Given the description of an element on the screen output the (x, y) to click on. 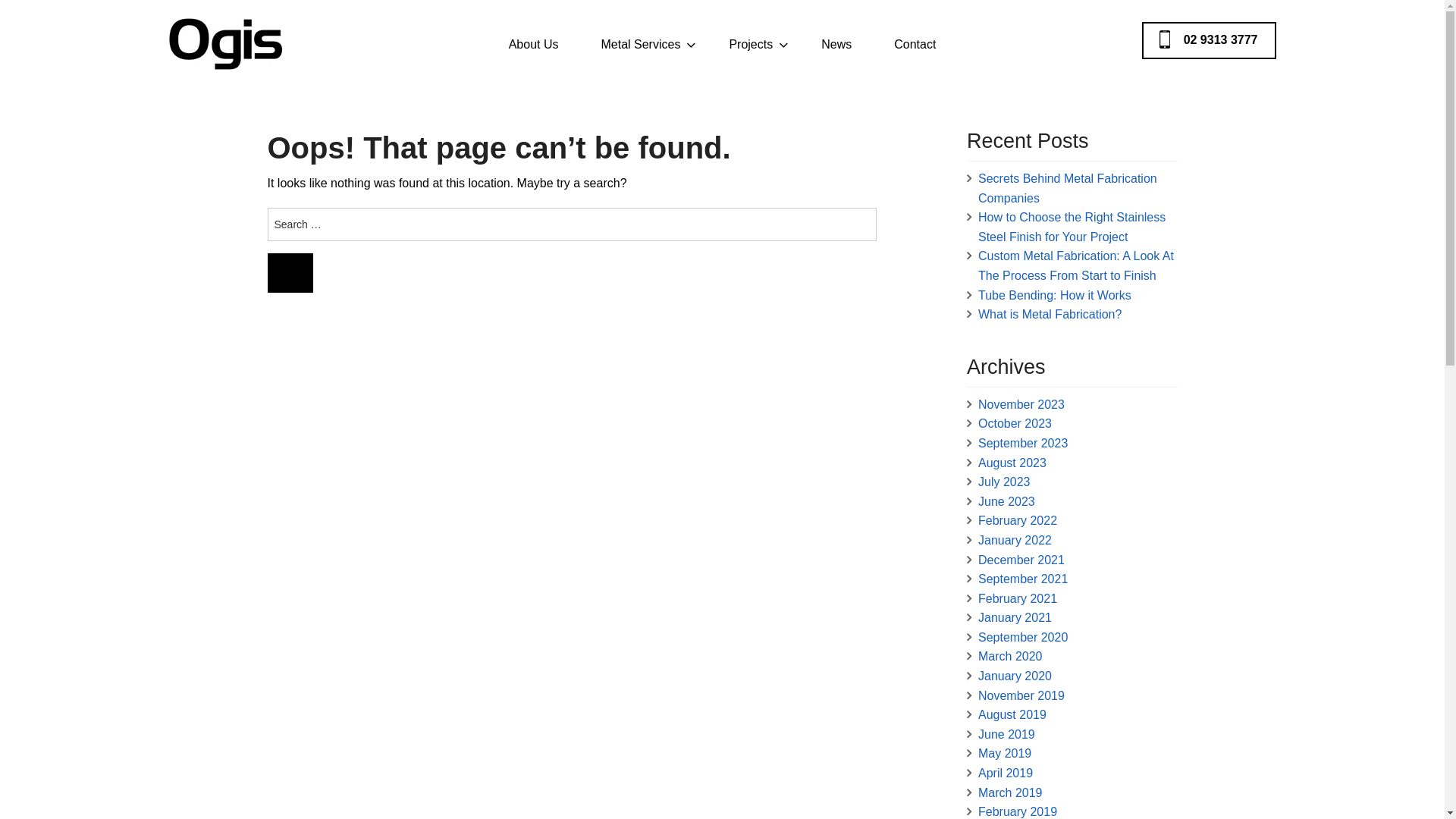
Metal Services Element type: text (643, 44)
January 2021 Element type: text (1014, 617)
02 9313 3777 Element type: text (1208, 40)
March 2020 Element type: text (1010, 655)
Materials & Finishes Element type: text (639, 194)
What is Metal Fabrication? Element type: text (1049, 313)
January 2022 Element type: text (1014, 539)
Tube Bending & Rolling Element type: text (639, 101)
Urban Art Element type: text (749, 70)
Projects Element type: text (753, 44)
October 2023 Element type: text (1014, 423)
Fabrication Element type: text (639, 132)
August 2019 Element type: text (1012, 714)
April 2019 Element type: text (1005, 772)
March 2019 Element type: text (1010, 792)
Architectural Element type: text (749, 101)
November 2023 Element type: text (1021, 404)
Play Equipment Element type: text (749, 194)
July 2023 Element type: text (1004, 481)
CNC Machining Element type: text (639, 163)
September 2023 Element type: text (1022, 442)
SEARCH Element type: text (289, 272)
June 2019 Element type: text (1006, 734)
September 2020 Element type: text (1022, 636)
News Element type: text (836, 44)
Secrets Behind Metal Fabrication Companies Element type: text (1067, 188)
August 2023 Element type: text (1012, 462)
Welding Element type: text (639, 225)
Project Management, Design & Prototyping Element type: text (639, 70)
About Us Element type: text (533, 44)
February 2022 Element type: text (1017, 520)
January 2020 Element type: text (1014, 675)
Tube Bending: How it Works Element type: text (1054, 294)
Contact Element type: text (914, 44)
February 2019 Element type: text (1017, 811)
Gates and Fences Element type: text (749, 163)
May 2019 Element type: text (1004, 752)
February 2021 Element type: text (1017, 598)
June 2023 Element type: text (1006, 501)
November 2019 Element type: text (1021, 695)
December 2021 Element type: text (1021, 559)
September 2021 Element type: text (1022, 578)
Furniture Element type: text (749, 132)
